Given the description of an element on the screen output the (x, y) to click on. 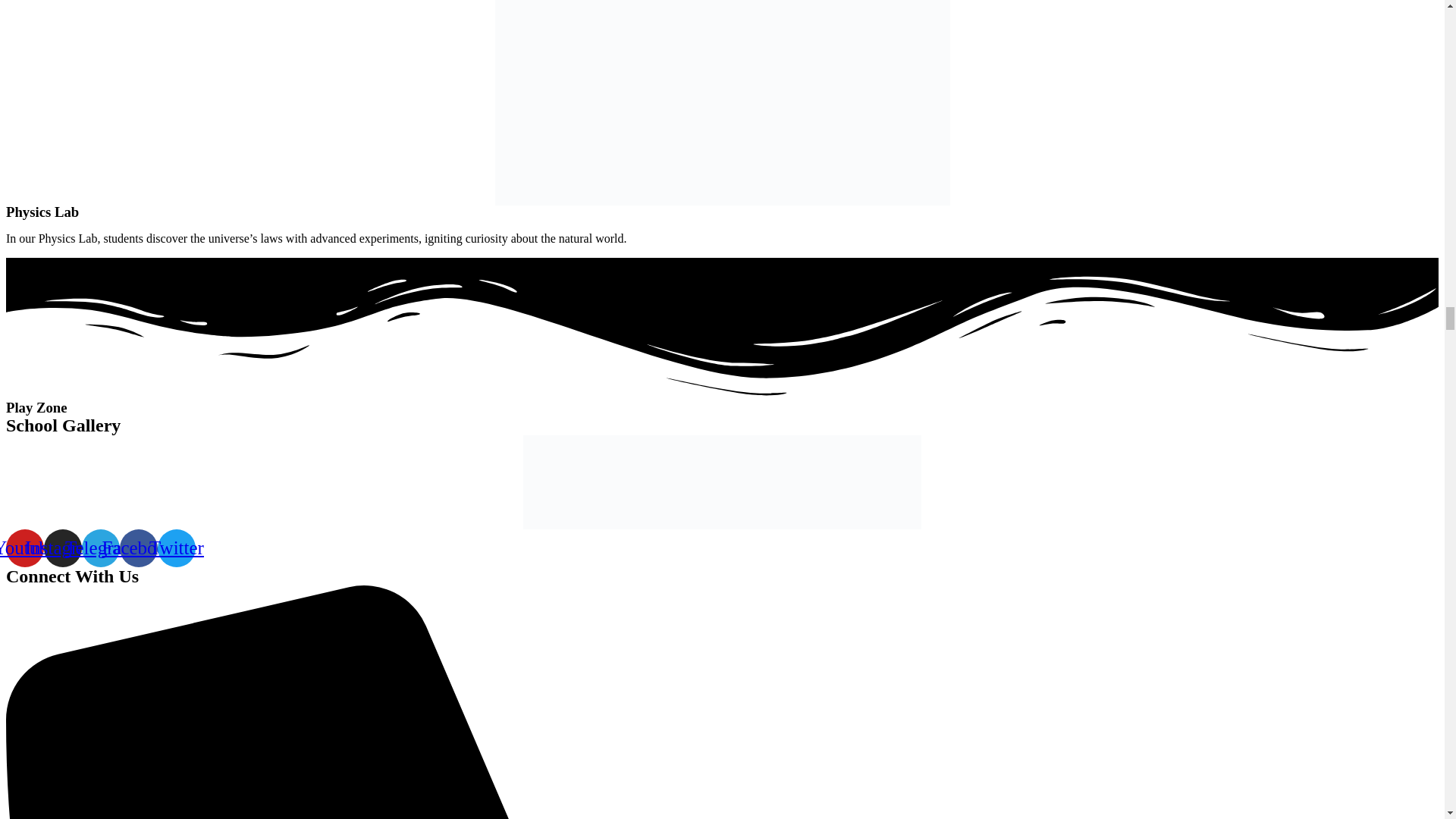
Instagram (62, 548)
Facebook (138, 548)
Youtube (24, 548)
Telegram (100, 548)
